Given the description of an element on the screen output the (x, y) to click on. 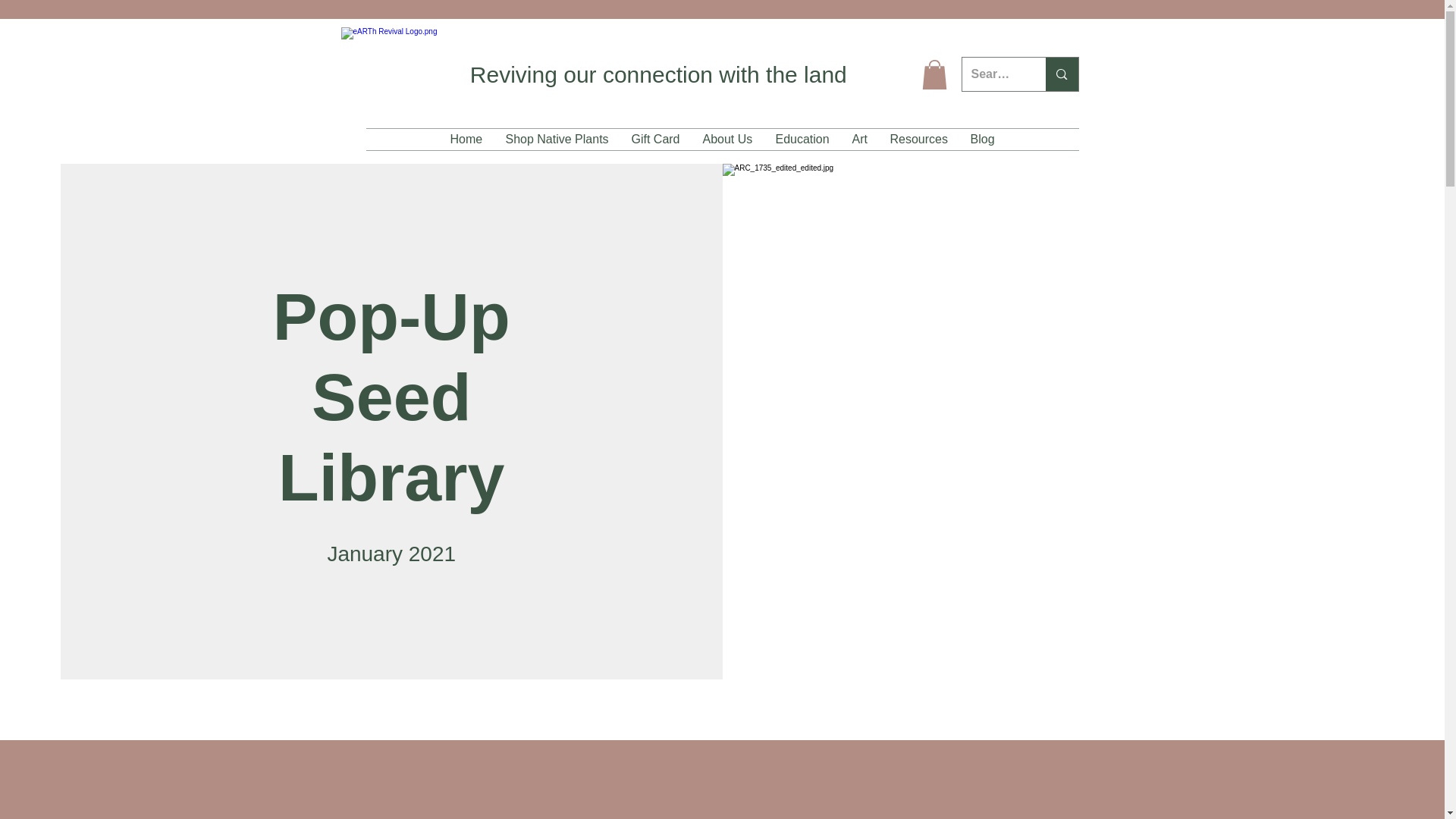
Shop Native Plants (557, 138)
Education (802, 138)
Home (465, 138)
Resources (917, 138)
Gift Card (655, 138)
Blog (982, 138)
About Us (727, 138)
Art (858, 138)
